Given the description of an element on the screen output the (x, y) to click on. 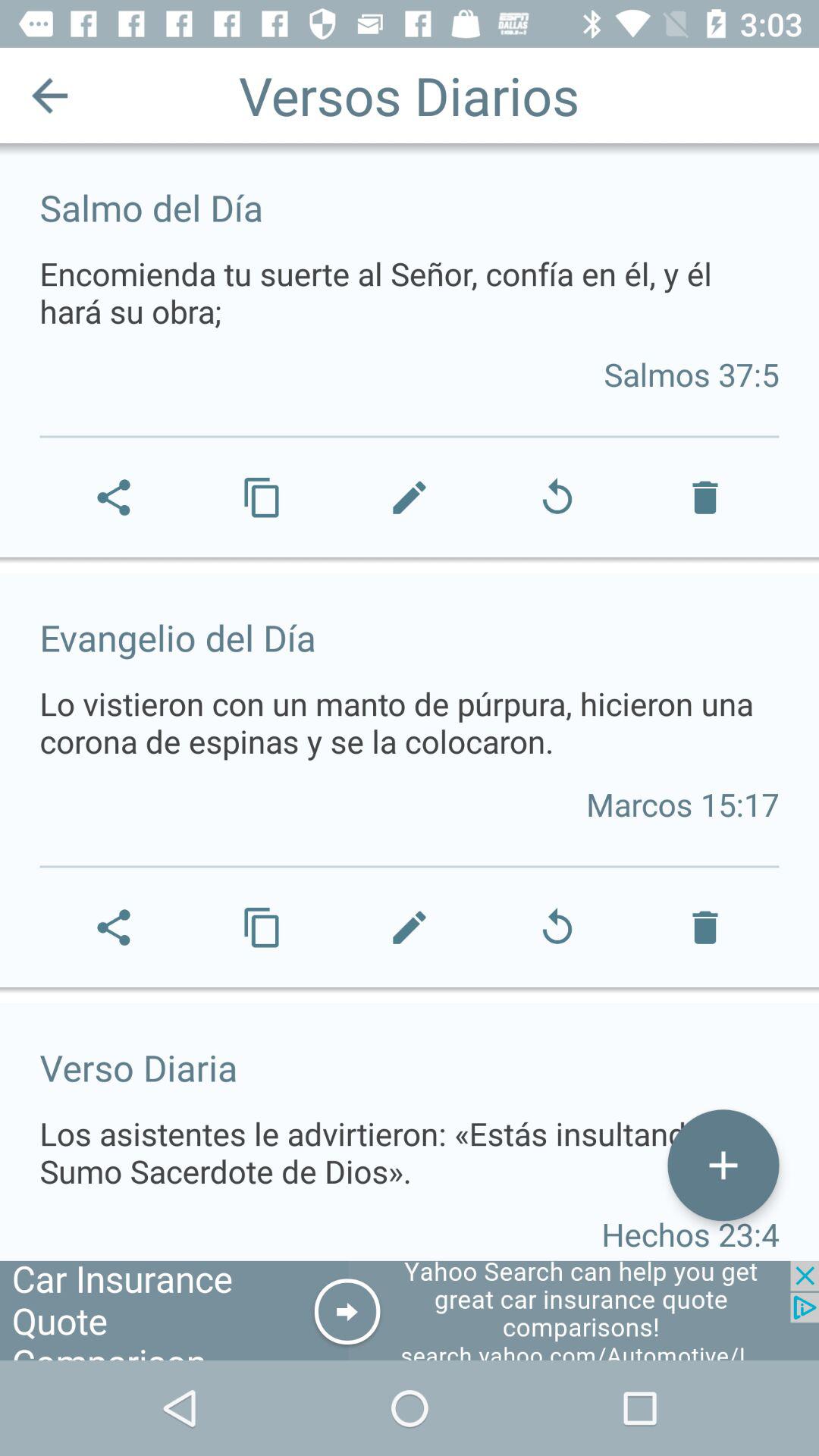
click to follow advertisement link (409, 1310)
